Given the description of an element on the screen output the (x, y) to click on. 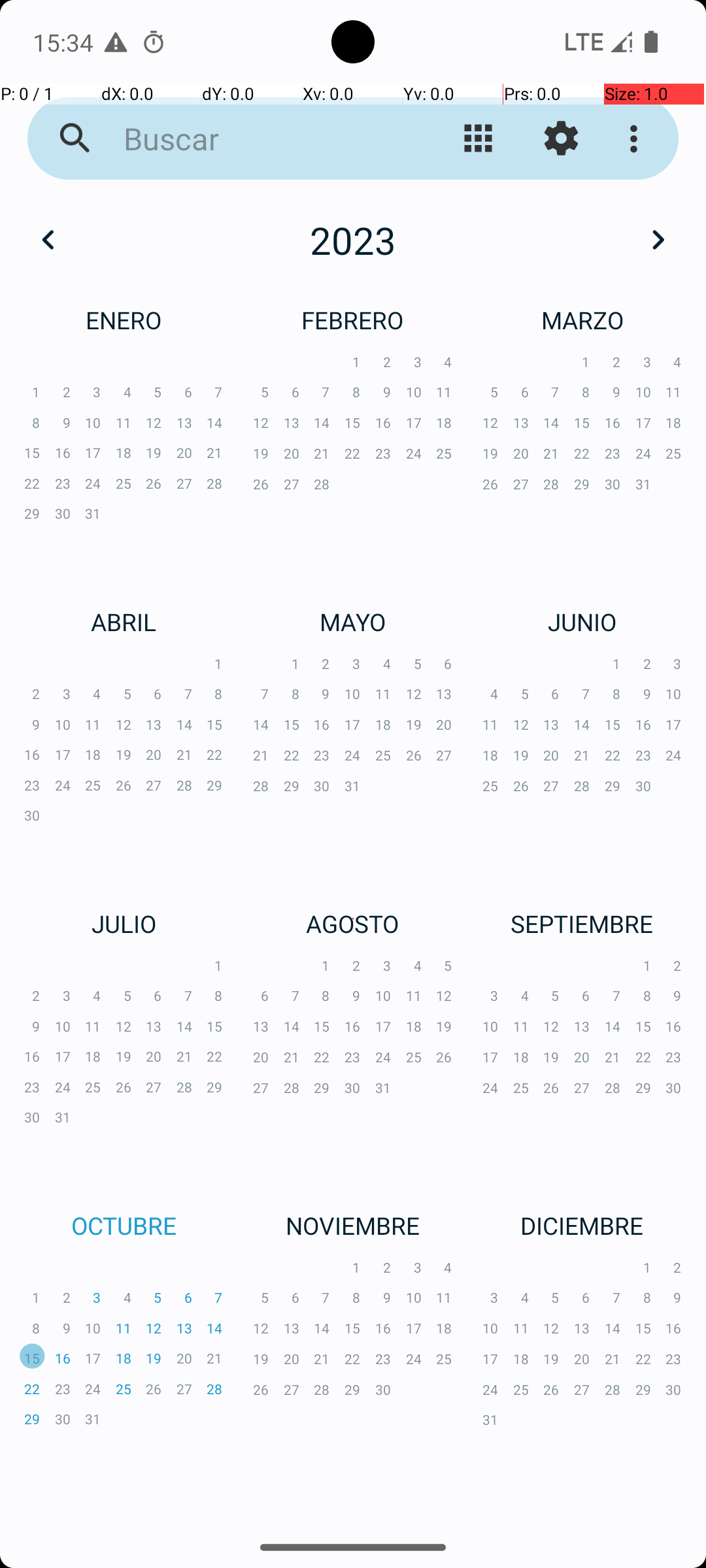
ENERO Element type: android.widget.TextView (123, 319)
FEBRERO Element type: android.widget.TextView (352, 319)
MARZO Element type: android.widget.TextView (582, 319)
ABRIL Element type: android.widget.TextView (123, 621)
MAYO Element type: android.widget.TextView (352, 621)
JUNIO Element type: android.widget.TextView (582, 621)
JULIO Element type: android.widget.TextView (123, 923)
AGOSTO Element type: android.widget.TextView (352, 923)
SEPTIEMBRE Element type: android.widget.TextView (582, 923)
OCTUBRE Element type: android.widget.TextView (123, 1224)
NOVIEMBRE Element type: android.widget.TextView (352, 1224)
DICIEMBRE Element type: android.widget.TextView (582, 1224)
